Given the description of an element on the screen output the (x, y) to click on. 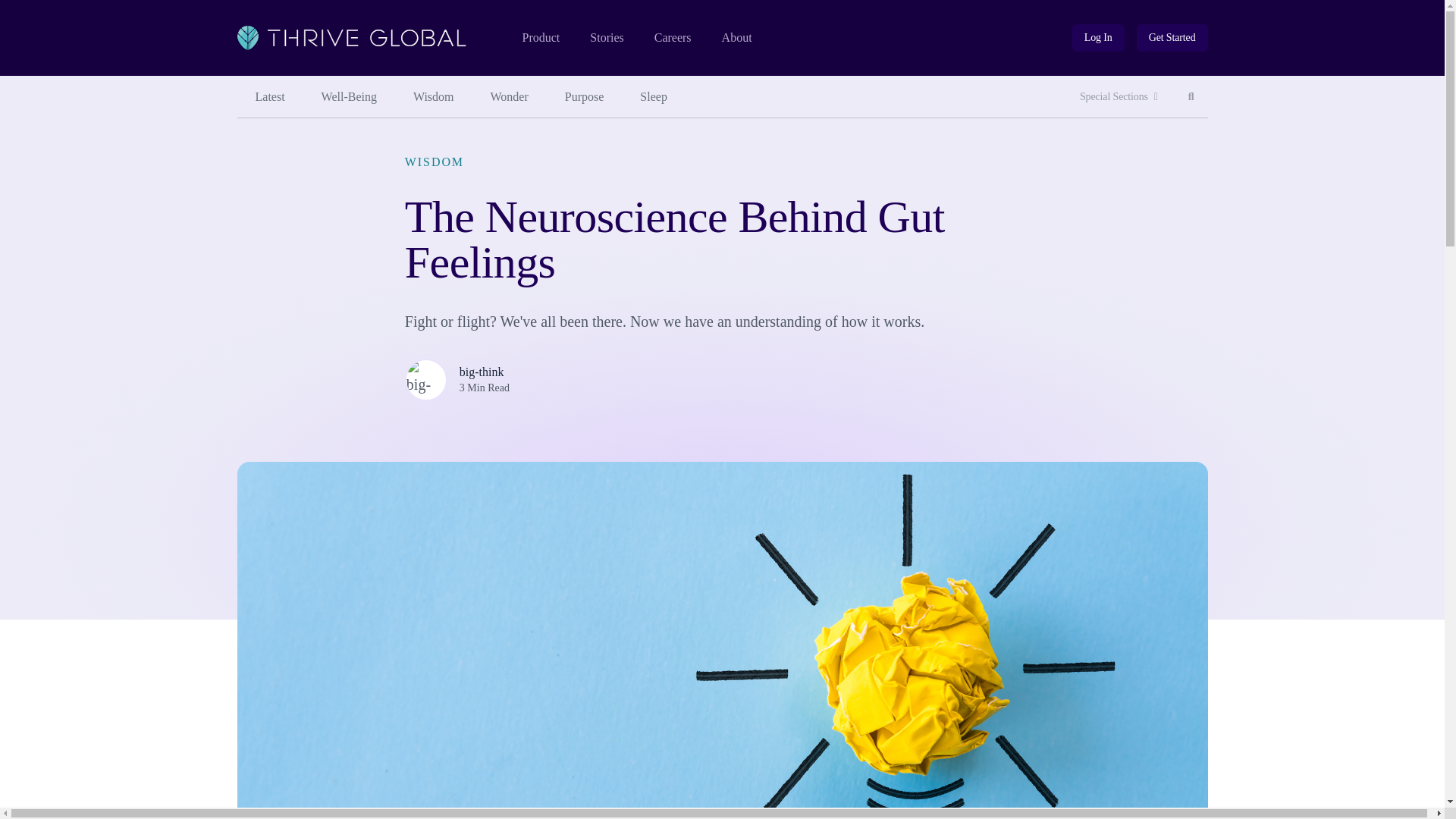
Sleep (653, 96)
Stories (606, 37)
Product (540, 37)
Careers (672, 37)
Special Sections (1118, 97)
Log In (1097, 37)
Wonder (509, 96)
Purpose (585, 96)
btn-primary (1172, 37)
btn-info (1191, 97)
Well-Being (1097, 37)
Latest (348, 96)
About (268, 96)
Get Started (737, 37)
